Given the description of an element on the screen output the (x, y) to click on. 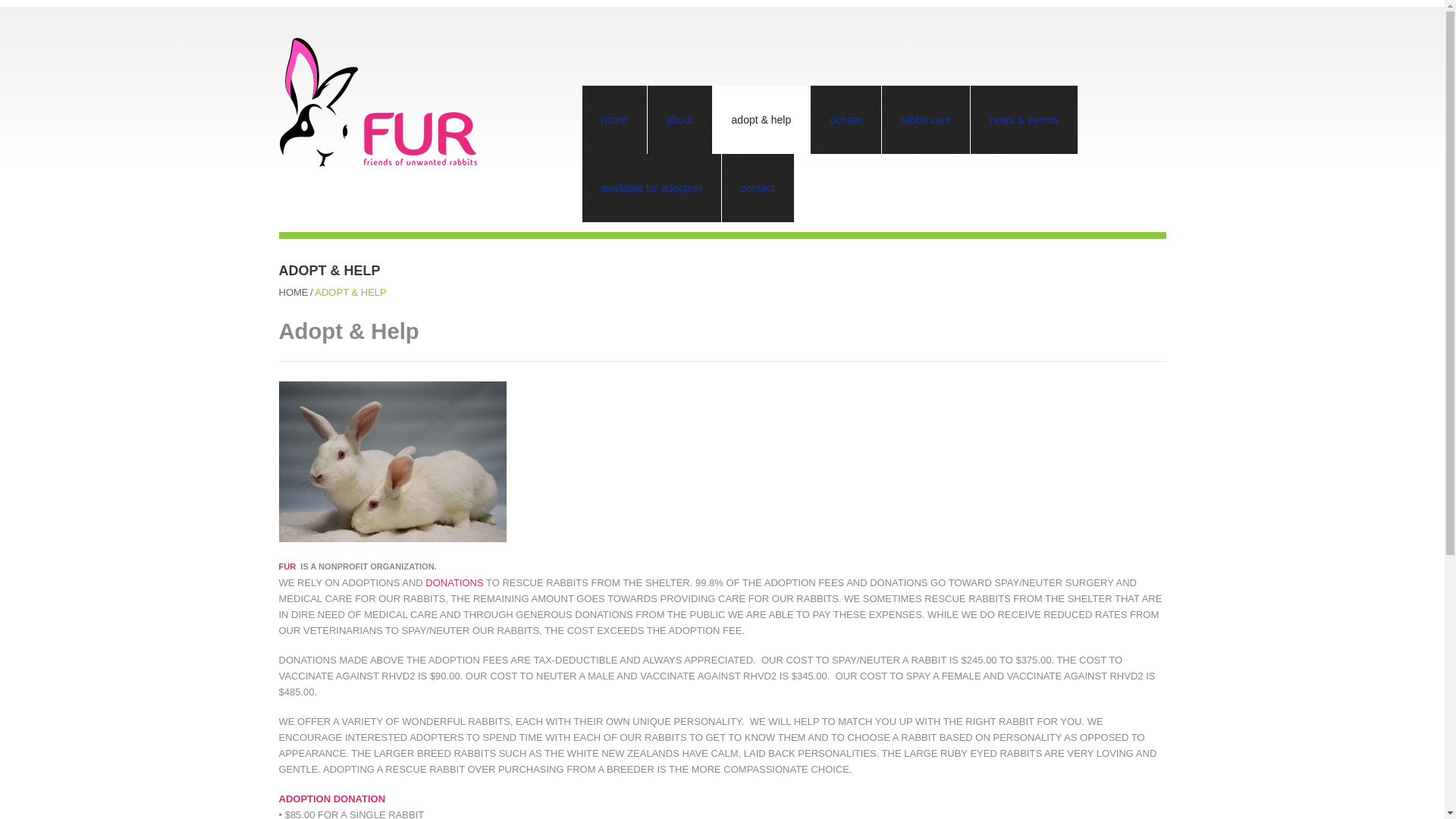
HOME (293, 292)
available for adoption (651, 187)
contact (757, 187)
rabbit care (925, 119)
Donate (454, 582)
about (679, 119)
DONATIONS (454, 582)
donate (845, 119)
home (614, 119)
